Given the description of an element on the screen output the (x, y) to click on. 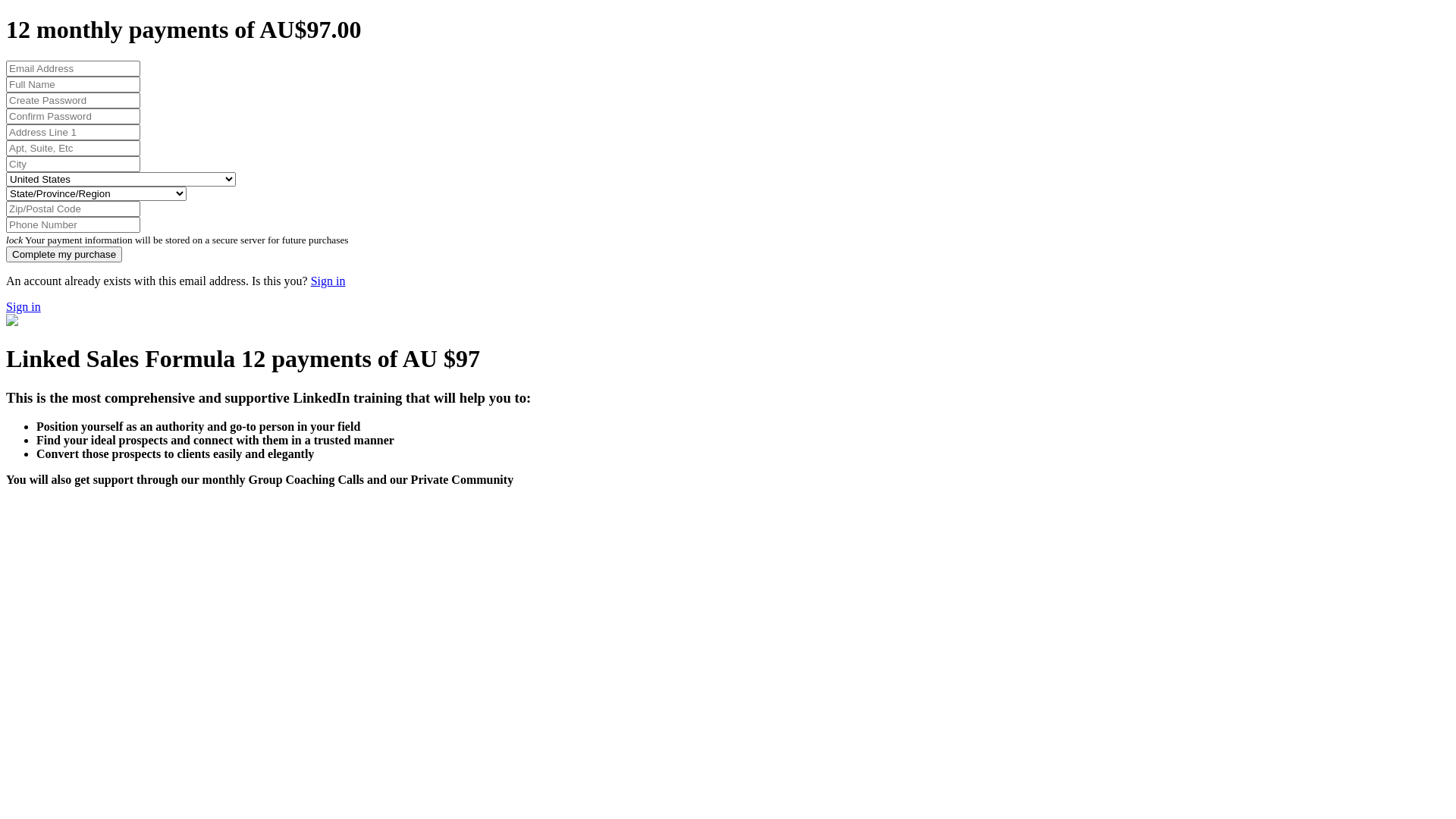
Sign in Element type: text (327, 280)
Complete my purchase Element type: text (64, 254)
Sign in Element type: text (23, 306)
